Given the description of an element on the screen output the (x, y) to click on. 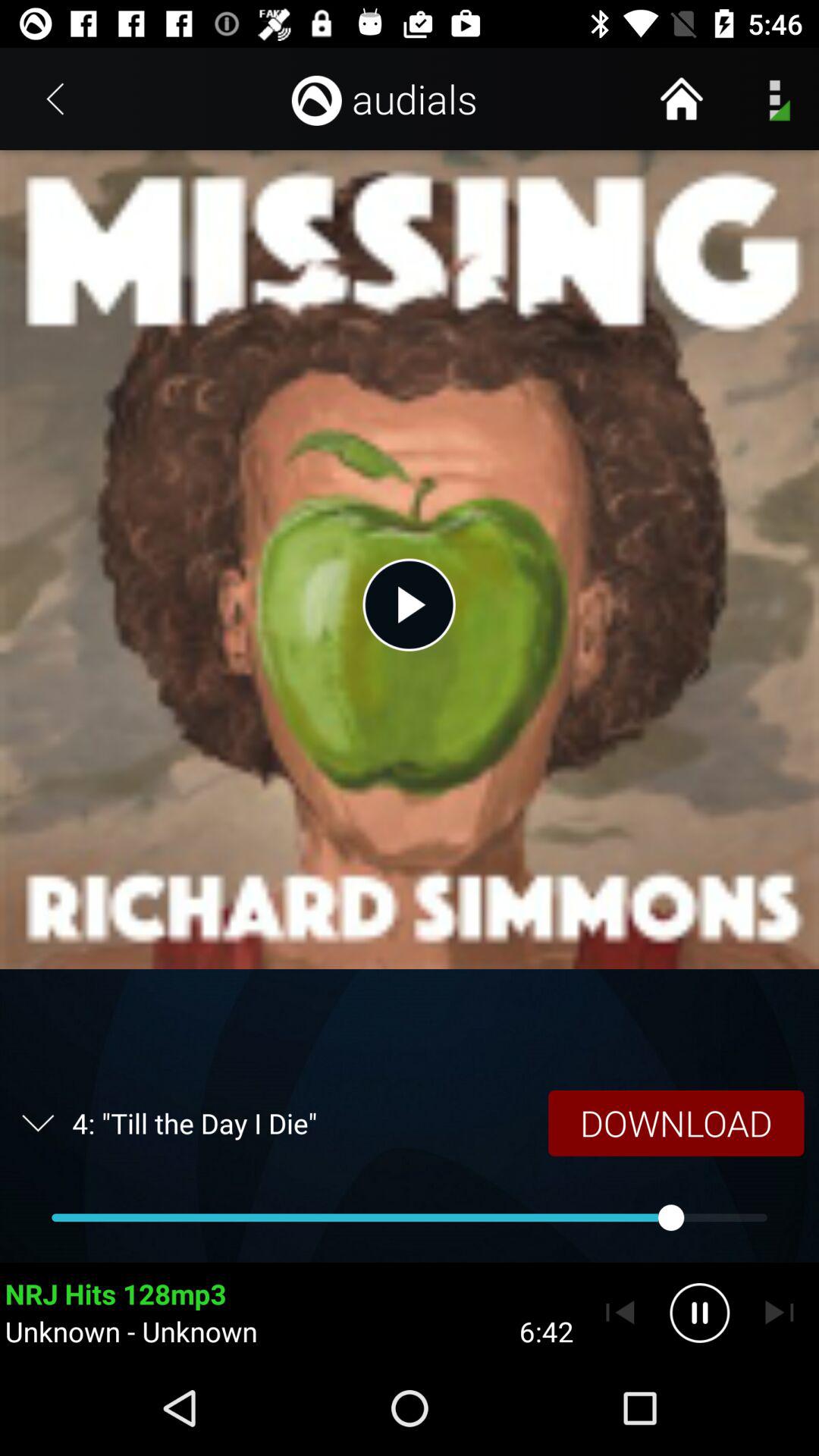
go home (681, 98)
